Given the description of an element on the screen output the (x, y) to click on. 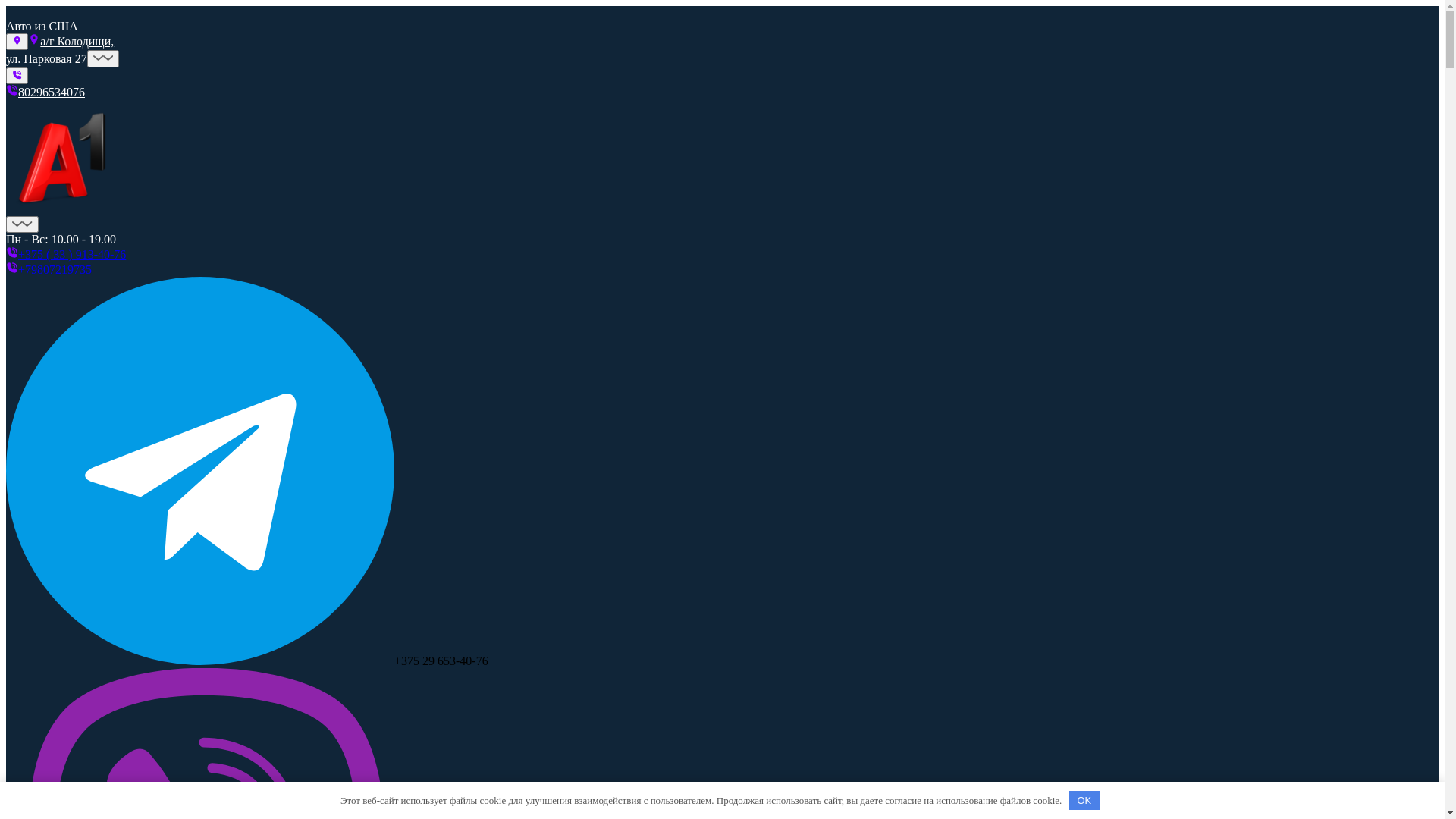
80296534076 Element type: text (51, 91)
+79807219735 Element type: text (54, 269)
OK Element type: text (1084, 799)
+375 ( 33 ) 913-40-76 Element type: text (71, 253)
